Given the description of an element on the screen output the (x, y) to click on. 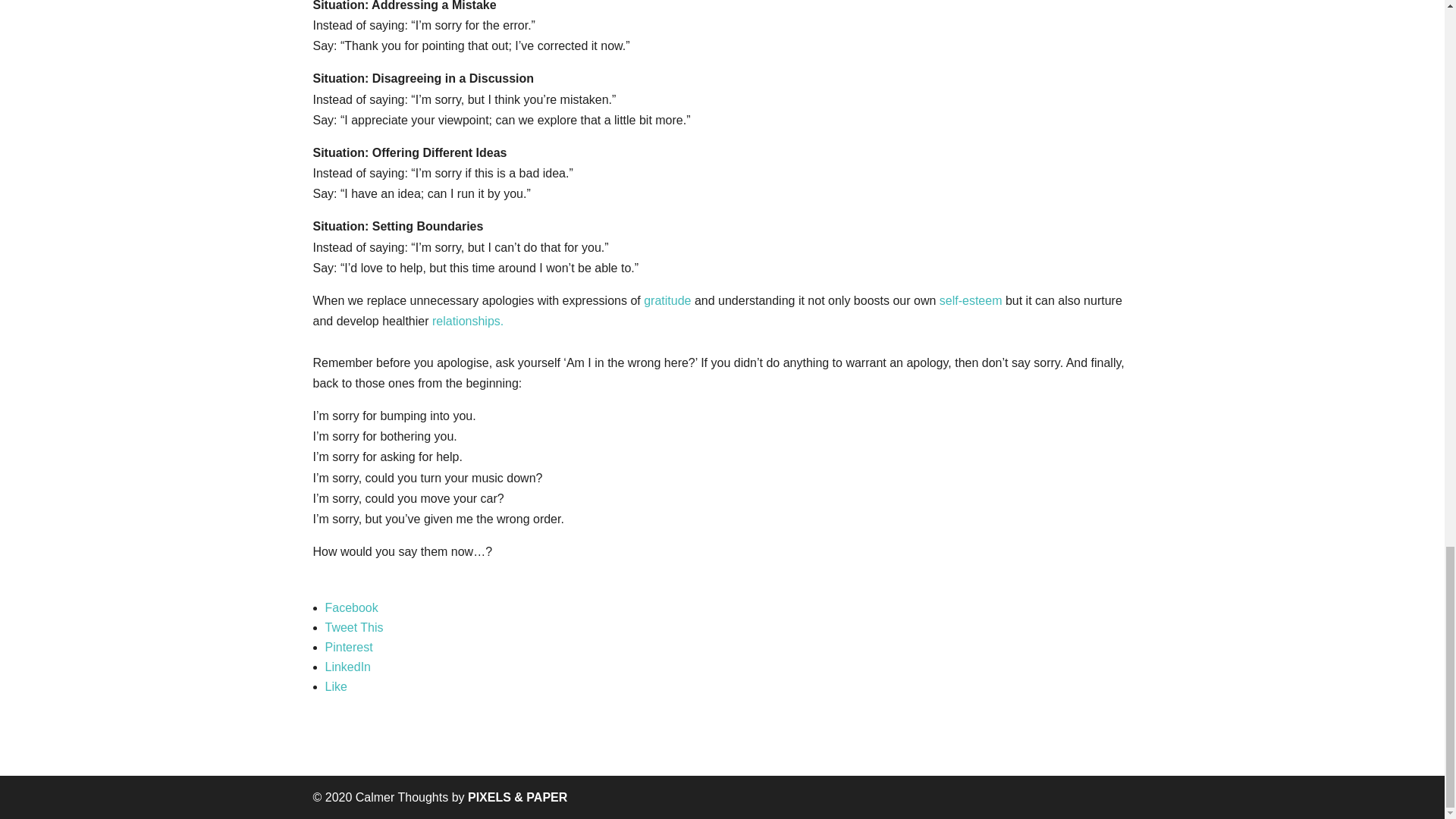
gratitude (666, 300)
Facebook (727, 608)
Pinterest (727, 647)
relationships. (467, 320)
self-esteem (971, 300)
Tweet This (727, 628)
